Given the description of an element on the screen output the (x, y) to click on. 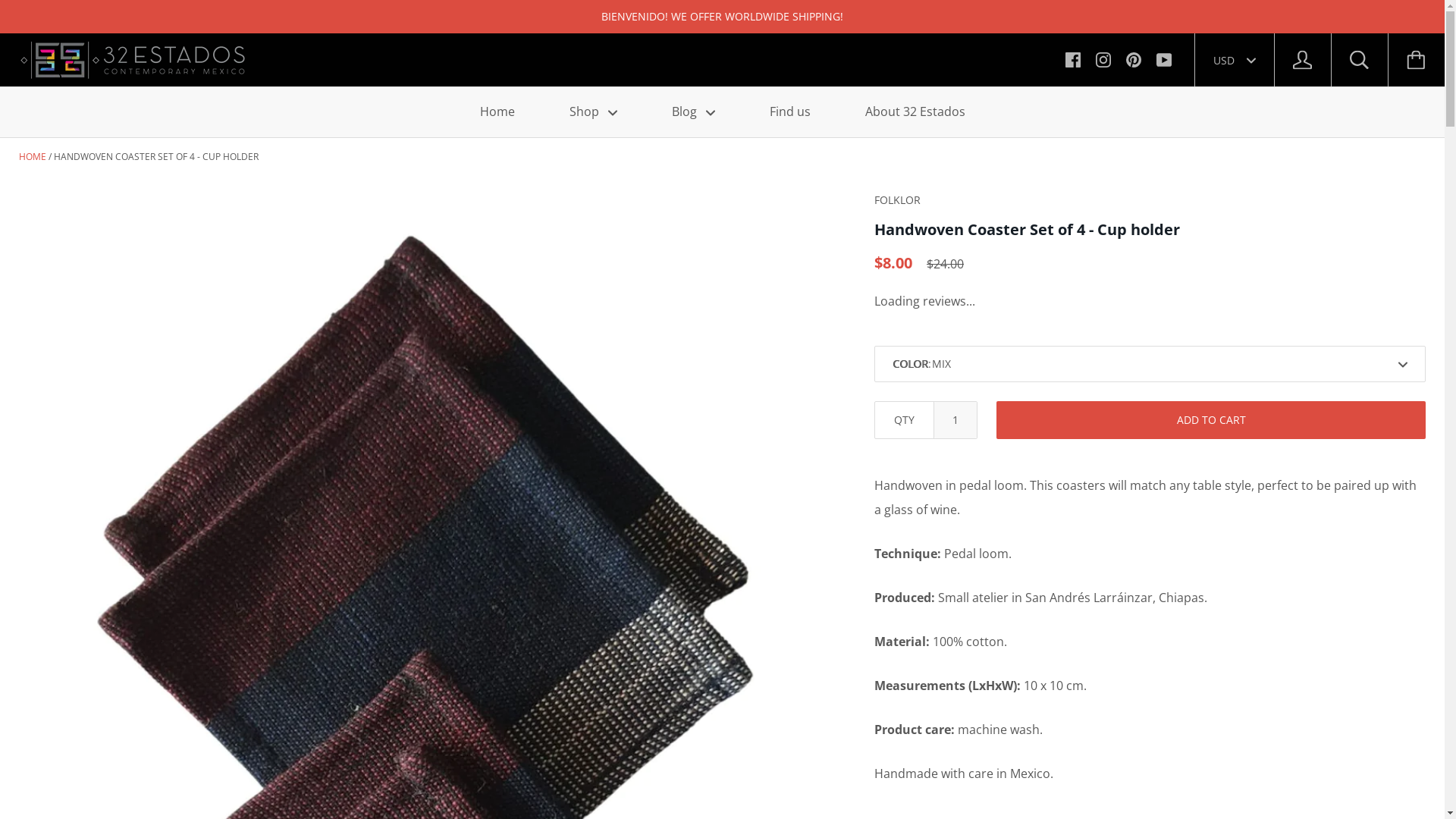
About 32 Estados Element type: text (914, 112)
Blog Element type: text (693, 112)
HOME Element type: text (32, 156)
Find us Element type: text (789, 112)
Home Element type: text (496, 112)
ADD TO CART Element type: text (1210, 420)
Shop Element type: text (592, 112)
